Given the description of an element on the screen output the (x, y) to click on. 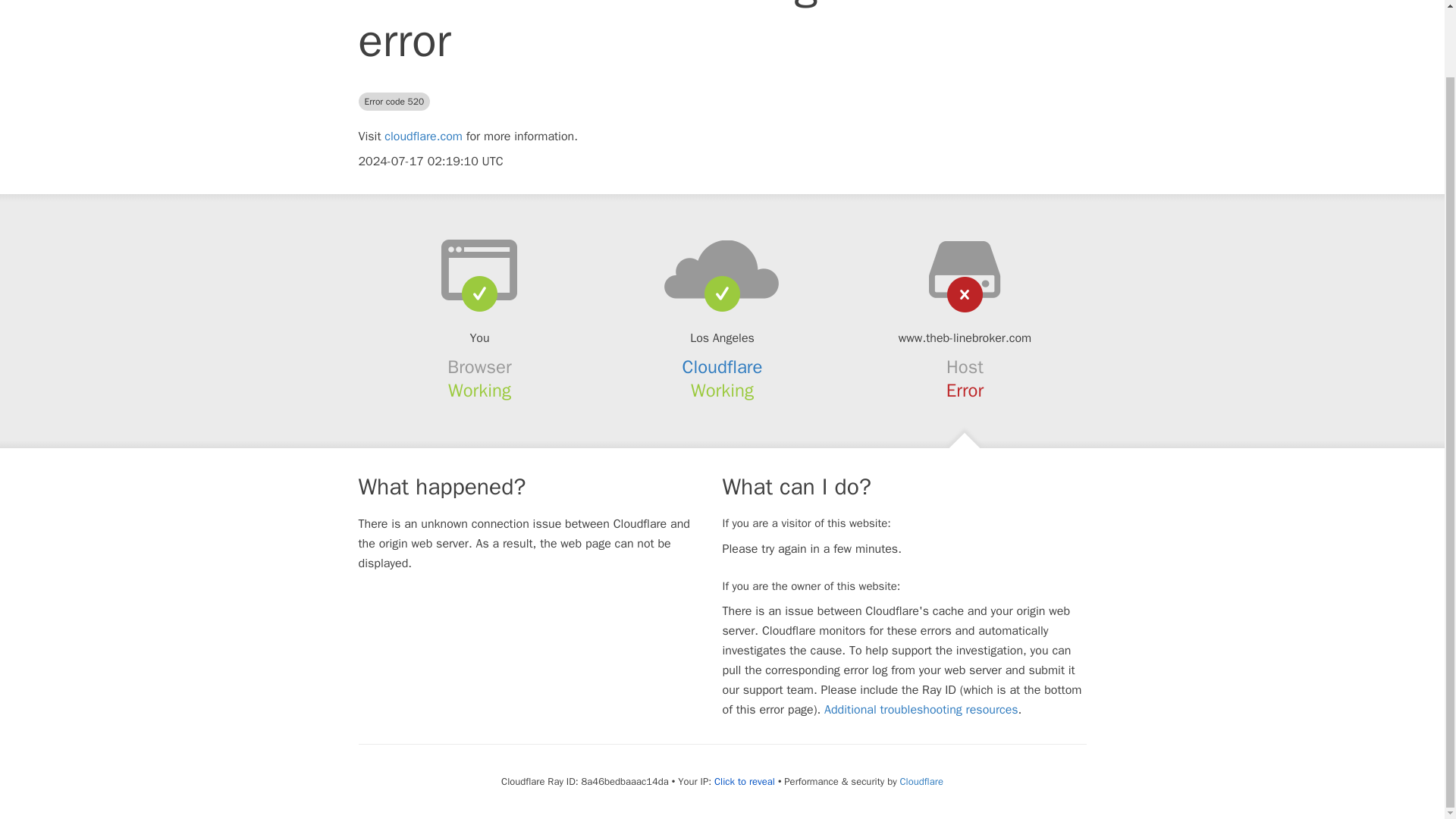
Cloudflare (921, 780)
Click to reveal (744, 781)
cloudflare.com (423, 136)
Additional troubleshooting resources (920, 709)
Cloudflare (722, 366)
